Given the description of an element on the screen output the (x, y) to click on. 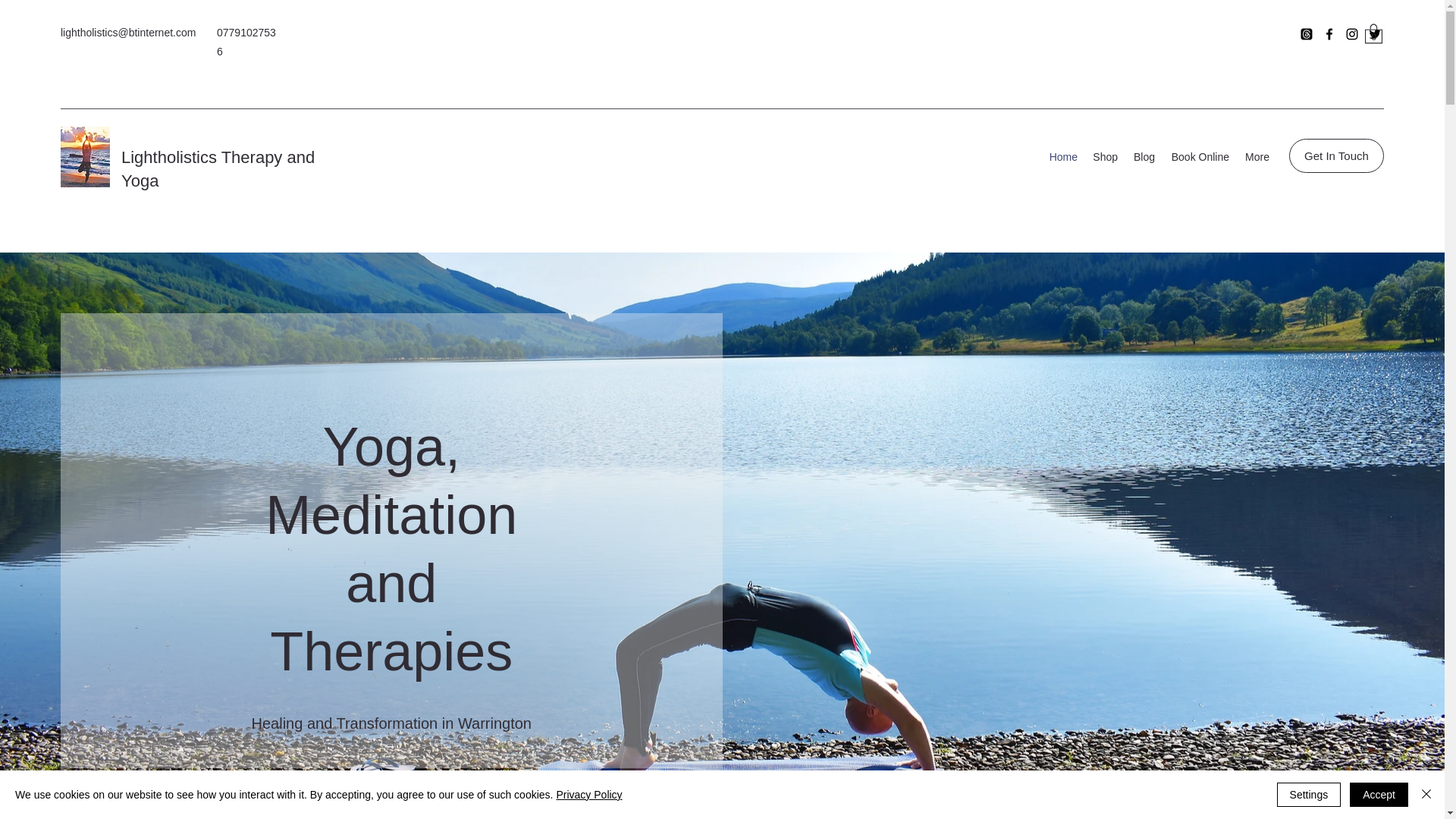
Shop (1104, 156)
Blog (1143, 156)
Book Online (1198, 156)
Home (1062, 156)
Get In Touch (1336, 155)
Lightholistics Therapy and Yoga (217, 169)
